Given the description of an element on the screen output the (x, y) to click on. 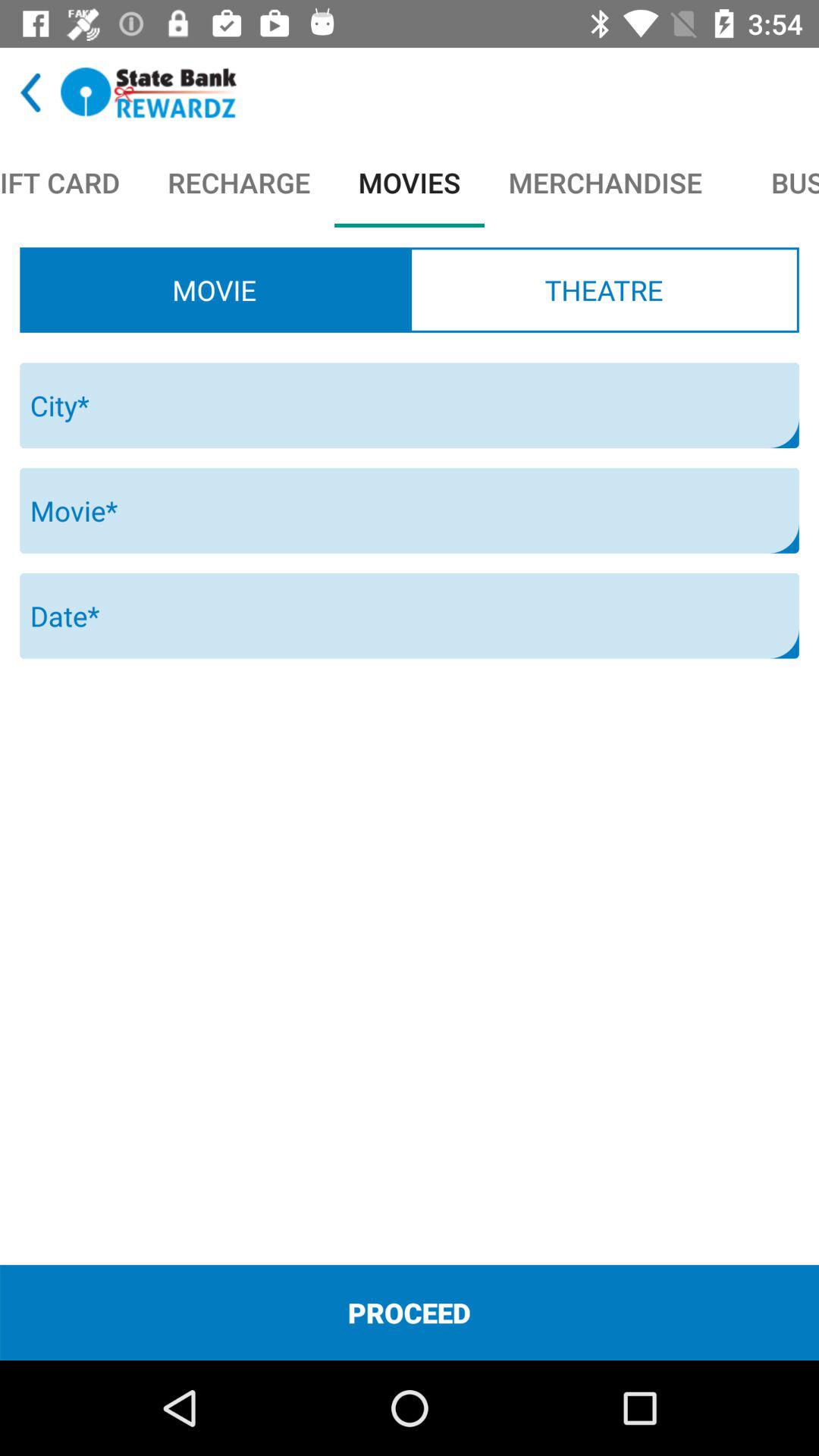
go back (30, 92)
